Given the description of an element on the screen output the (x, y) to click on. 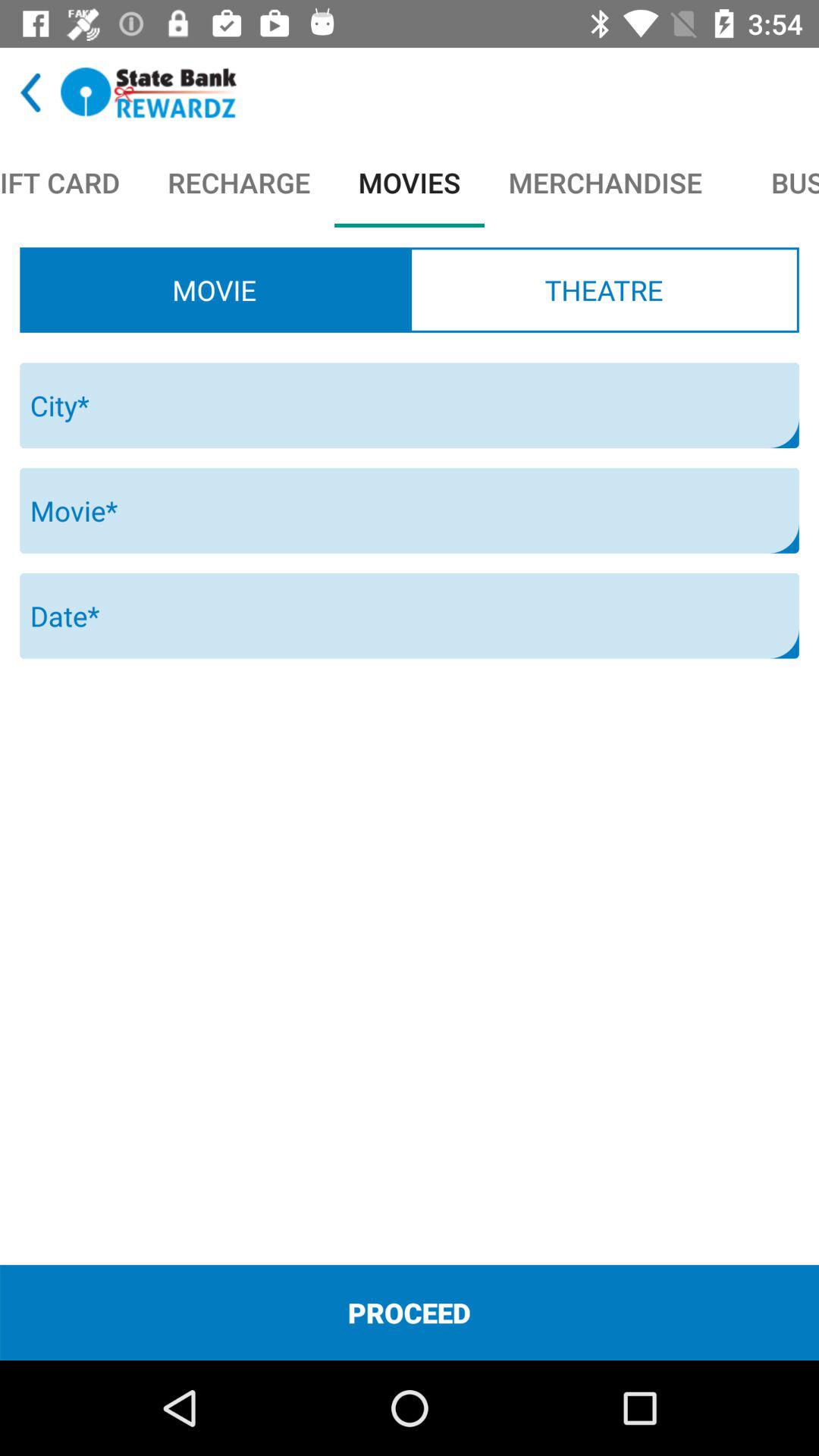
go back (30, 92)
